Given the description of an element on the screen output the (x, y) to click on. 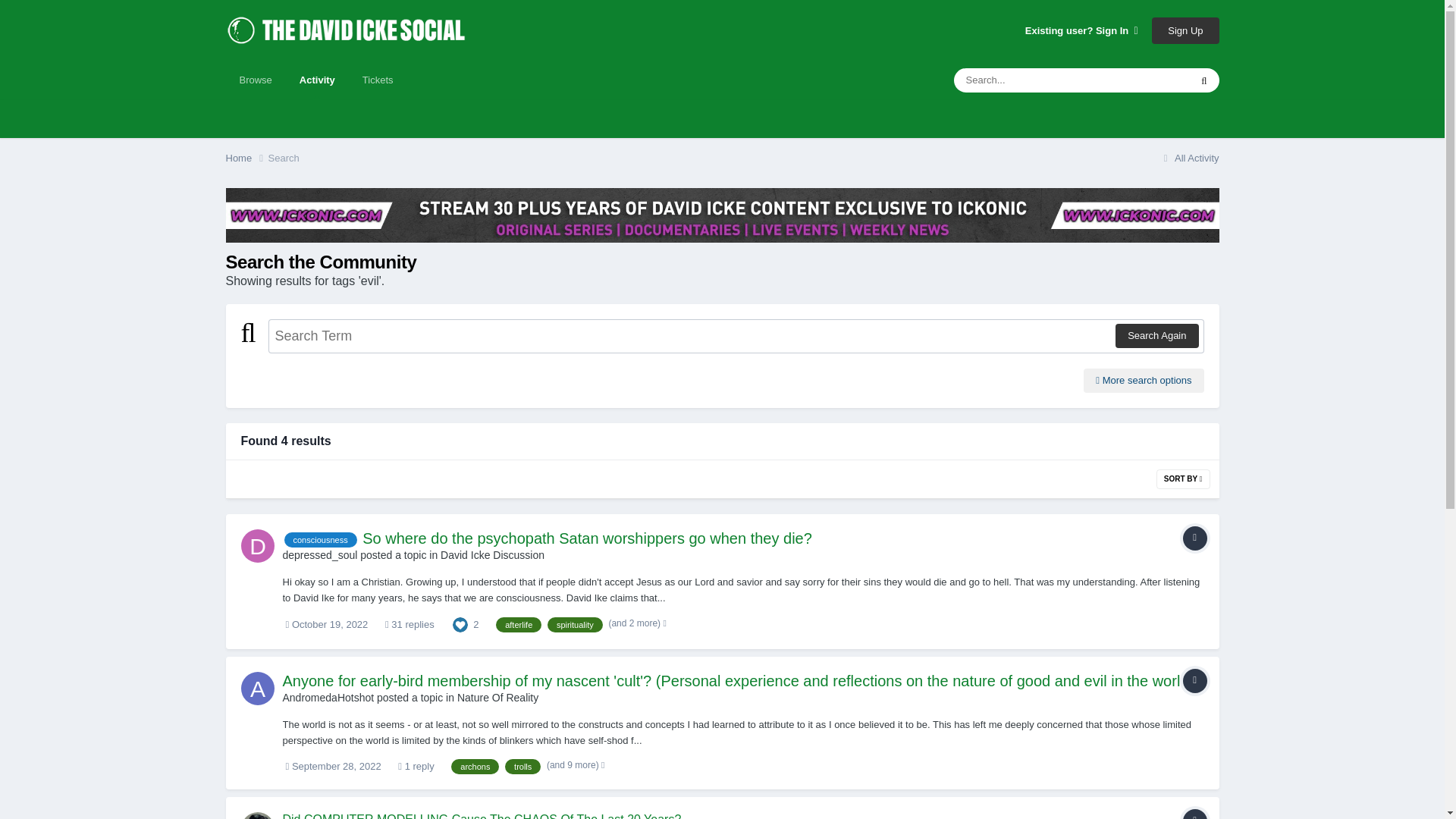
Go to AndromedaHotshot's profile (328, 697)
All Activity (1188, 157)
Search Again (1156, 335)
Go to AndromedaHotshot's profile (258, 688)
Find other content tagged with 'spirituality' (574, 624)
Topic (1194, 538)
Topic (1194, 680)
More search options (1143, 380)
Sign Up (1184, 29)
Home (246, 158)
